Given the description of an element on the screen output the (x, y) to click on. 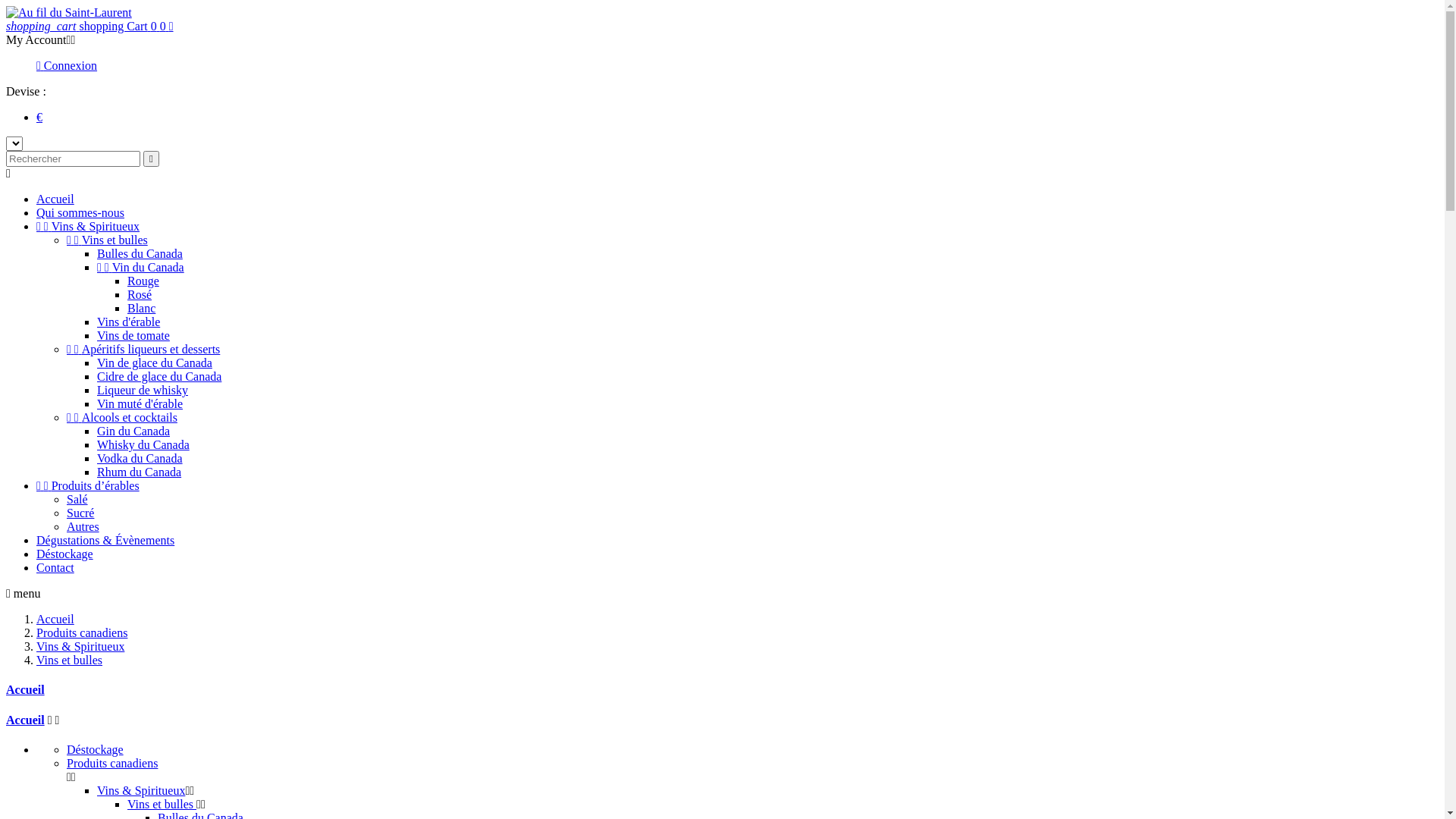
Qui sommes-nous Element type: text (80, 212)
Cidre de glace du Canada Element type: text (159, 376)
Vins et bulles Element type: text (161, 803)
Autres Element type: text (82, 526)
Rouge Element type: text (143, 280)
Accueil Element type: text (55, 198)
Vins & Spiritueux Element type: text (141, 790)
Accueil Element type: text (25, 689)
Vin de glace du Canada Element type: text (154, 362)
Rhum du Canada Element type: text (139, 471)
Accueil Element type: text (55, 618)
Contact Element type: text (55, 567)
Vodka du Canada Element type: text (139, 457)
Gin du Canada Element type: text (133, 430)
Vins & Spiritueux Element type: text (80, 646)
Liqueur de whisky Element type: text (142, 389)
Accueil Element type: text (25, 719)
Whisky du Canada Element type: text (143, 444)
Produits canadiens Element type: text (81, 632)
Produits canadiens Element type: text (111, 762)
Vins et bulles Element type: text (69, 659)
Bulles du Canada Element type: text (139, 253)
Blanc Element type: text (141, 307)
Vins de tomate Element type: text (133, 335)
